Given the description of an element on the screen output the (x, y) to click on. 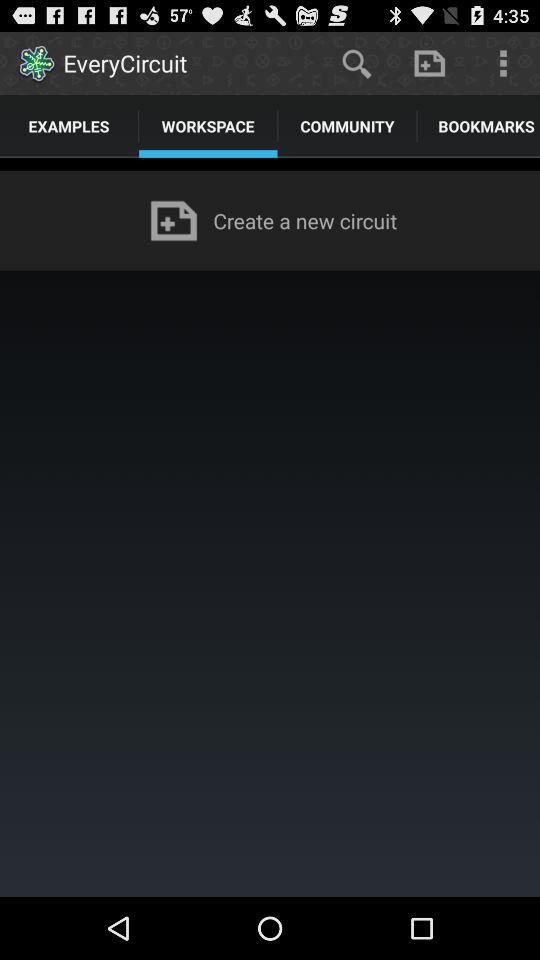
launch item next to create a new icon (173, 220)
